Given the description of an element on the screen output the (x, y) to click on. 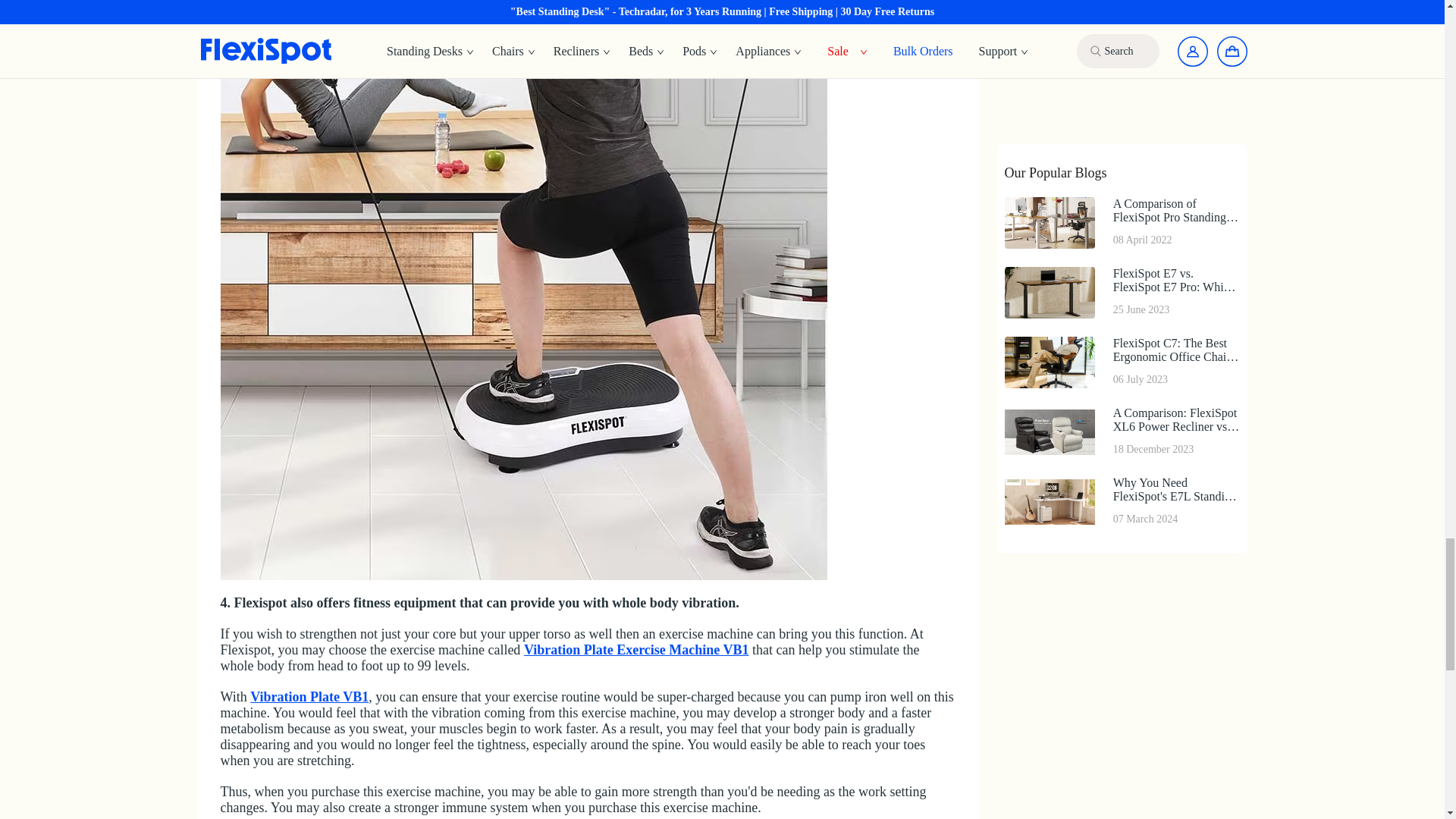
Vibration Plate Exercise Machine VB1 (636, 649)
Vibration Plate VB1 (309, 696)
